Given the description of an element on the screen output the (x, y) to click on. 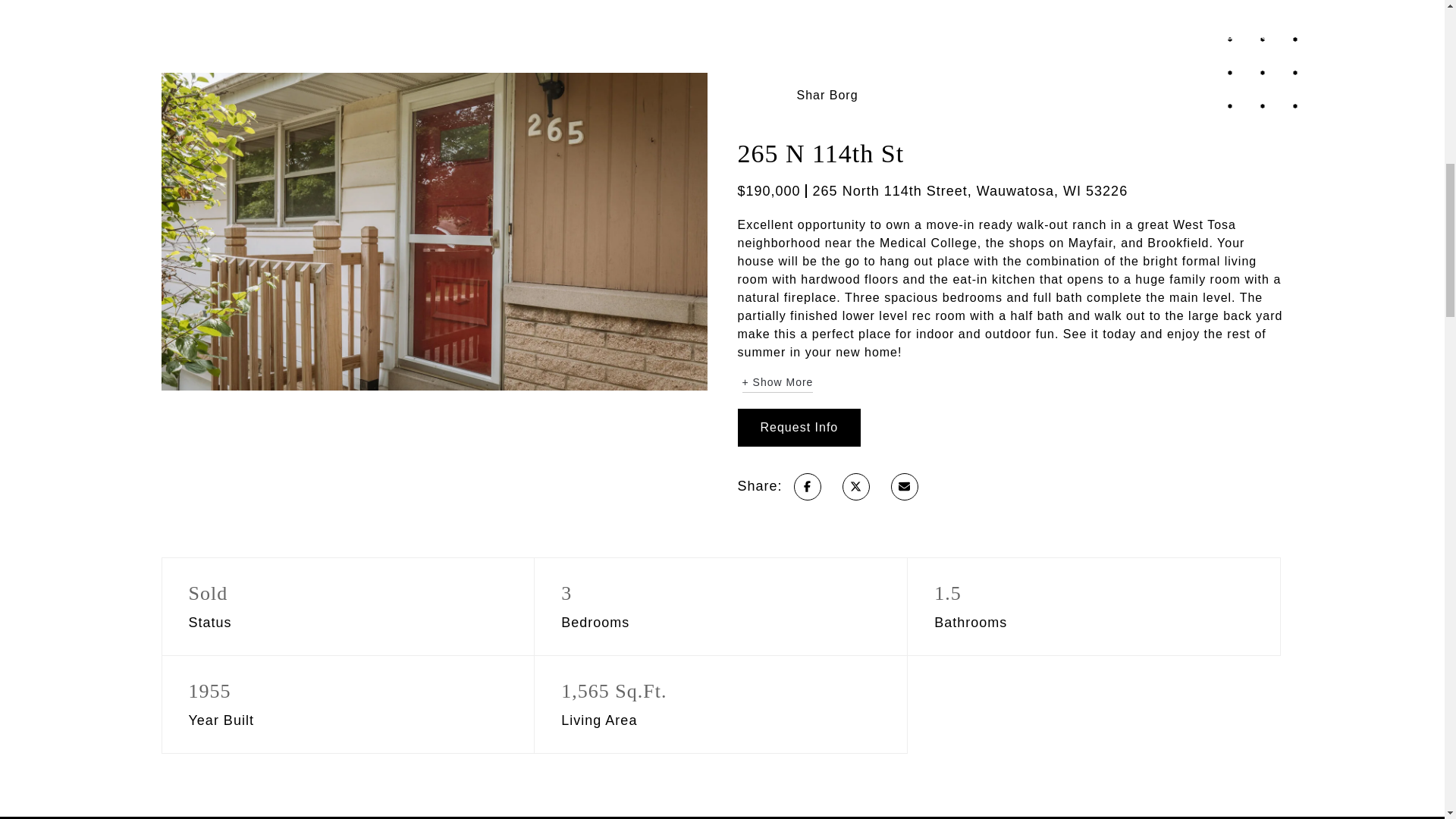
Request Info (798, 427)
